Given the description of an element on the screen output the (x, y) to click on. 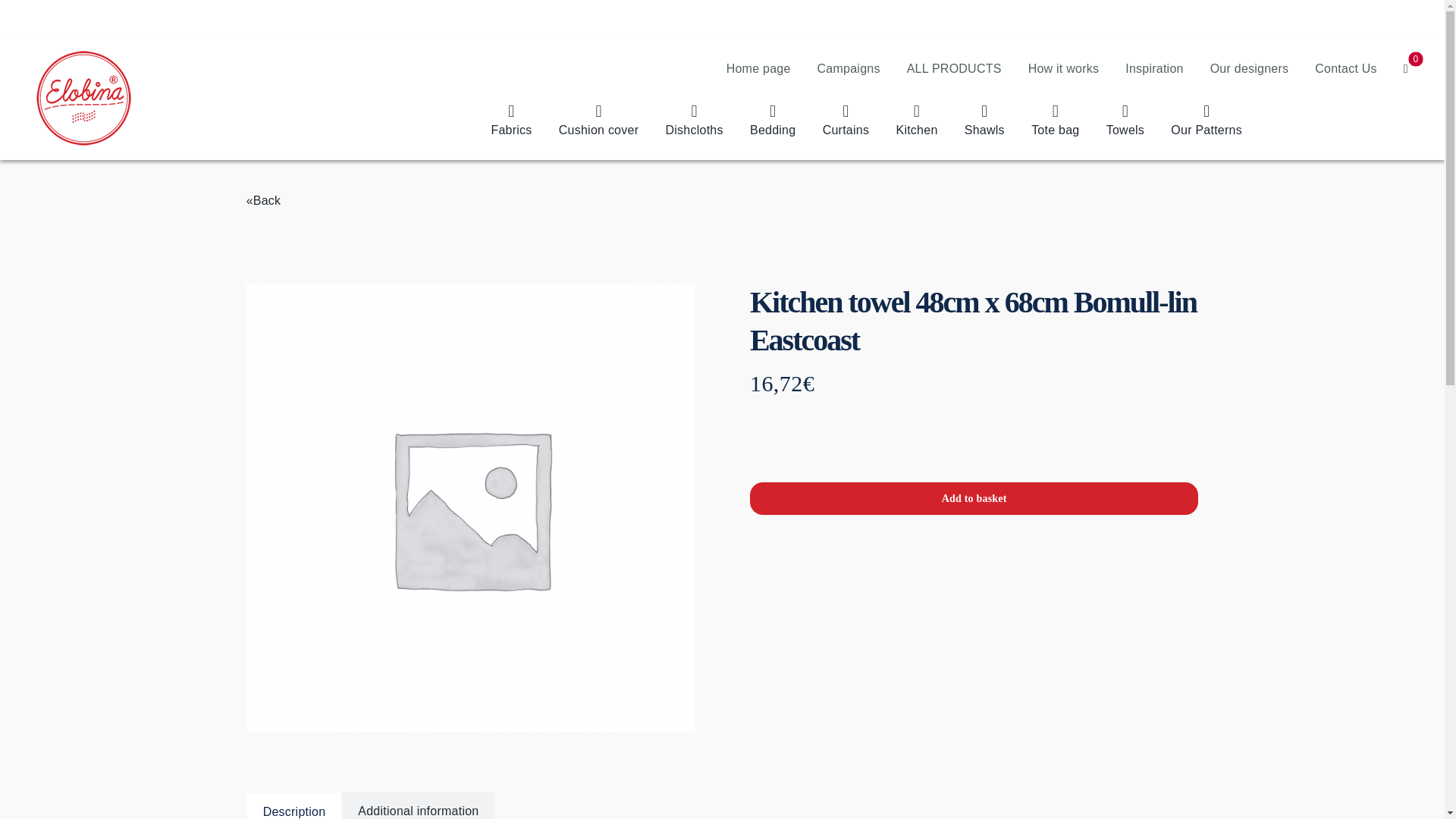
Fabrics (511, 121)
Our designers (1249, 61)
Campaigns (848, 61)
Inspiration (1154, 61)
Shawls (984, 121)
Contact Us (1345, 61)
Towels (1125, 121)
How it works (1063, 61)
Kuddfodral (598, 121)
Our Patterns (1205, 121)
